Given the description of an element on the screen output the (x, y) to click on. 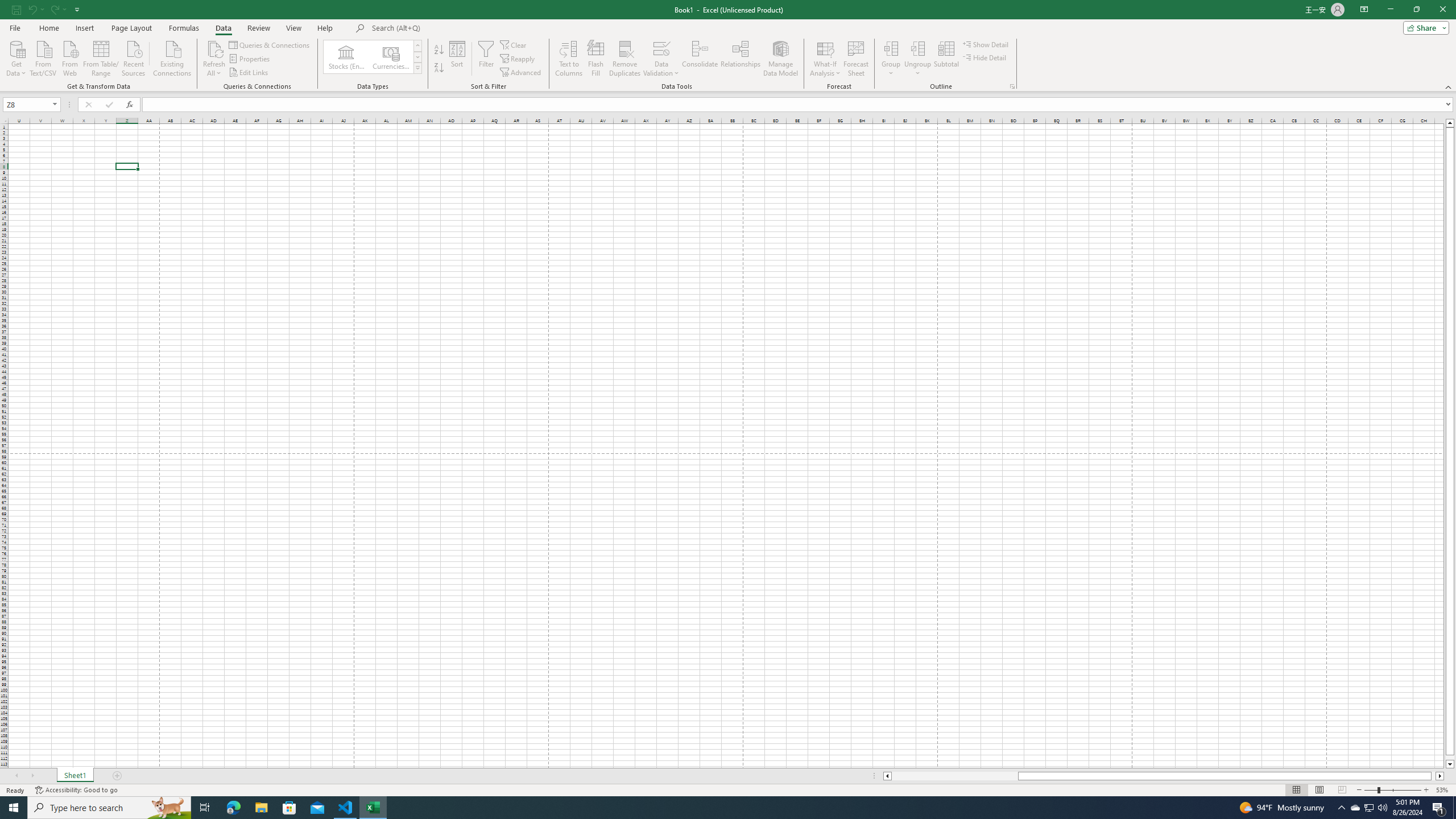
Relationships (740, 58)
